Given the description of an element on the screen output the (x, y) to click on. 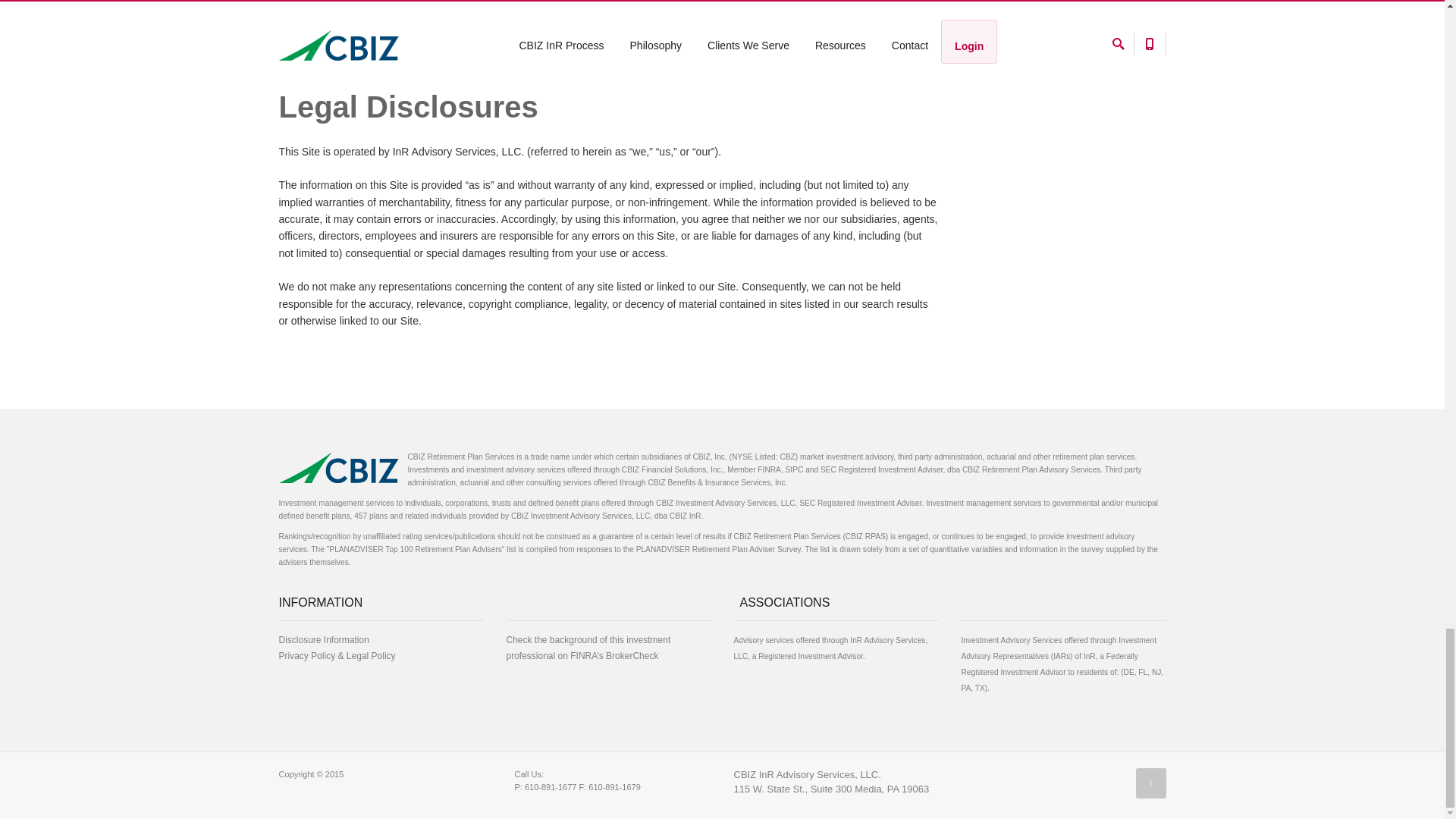
Disclosure Information (324, 639)
